Given the description of an element on the screen output the (x, y) to click on. 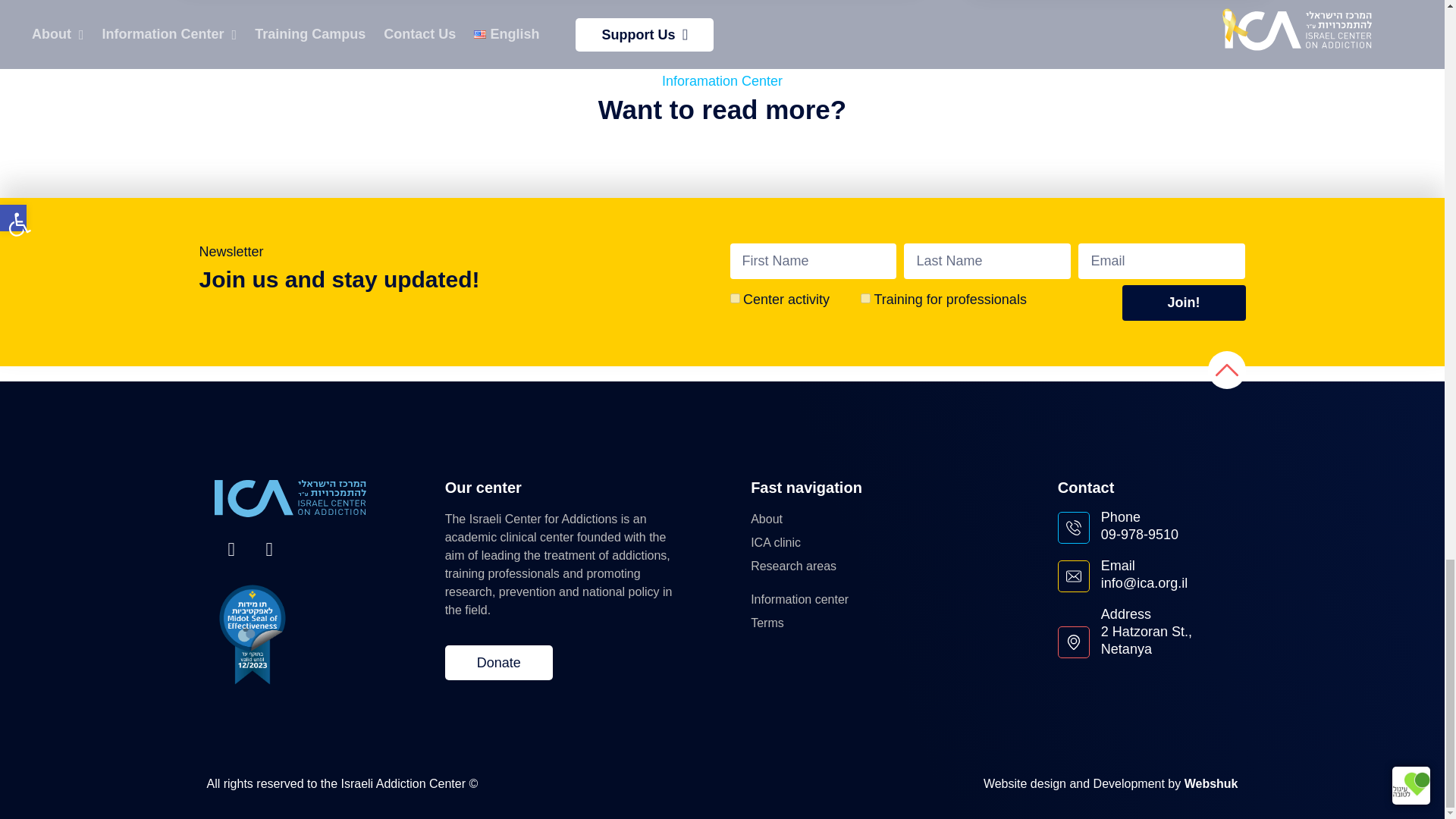
 true (734, 298)
 true (865, 298)
